Given the description of an element on the screen output the (x, y) to click on. 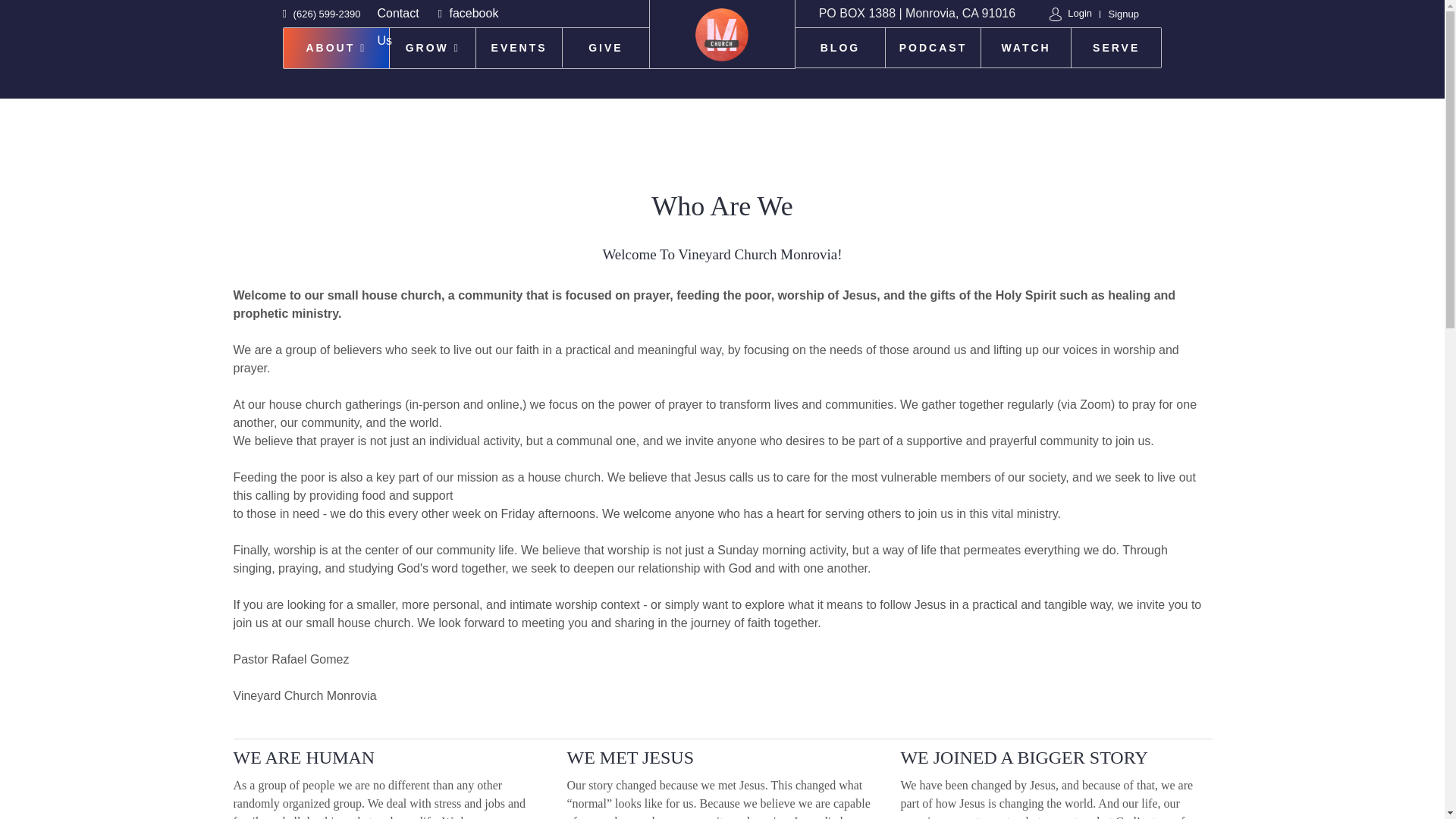
Signup (1115, 14)
WATCH (1026, 47)
GIVE (605, 47)
BLOG (839, 47)
EVENTS (519, 47)
ABOUT (336, 47)
Contact Us (398, 26)
SERVE (1116, 47)
Login (1070, 14)
PODCAST (933, 47)
facebook (468, 12)
GROW (433, 47)
